Given the description of an element on the screen output the (x, y) to click on. 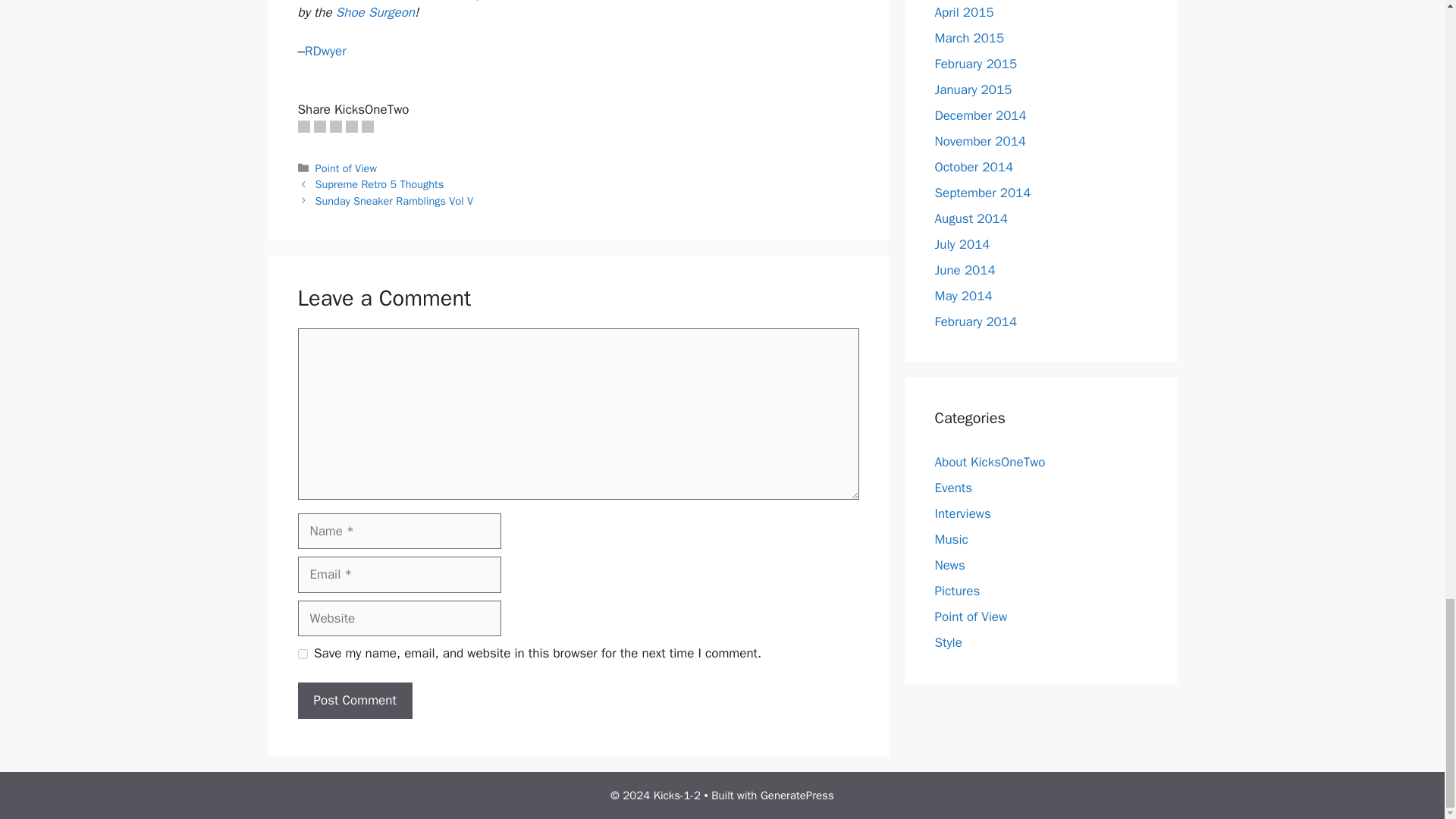
Share on tumblr (352, 126)
Point of View (346, 168)
Share on Facebook (302, 126)
Pin it with Pinterest (334, 126)
yes (302, 654)
Share by email (366, 126)
RDwyer (325, 50)
Sunday Sneaker Ramblings Vol V (394, 201)
Post Comment (354, 700)
Share on Twitter (320, 126)
